Given the description of an element on the screen output the (x, y) to click on. 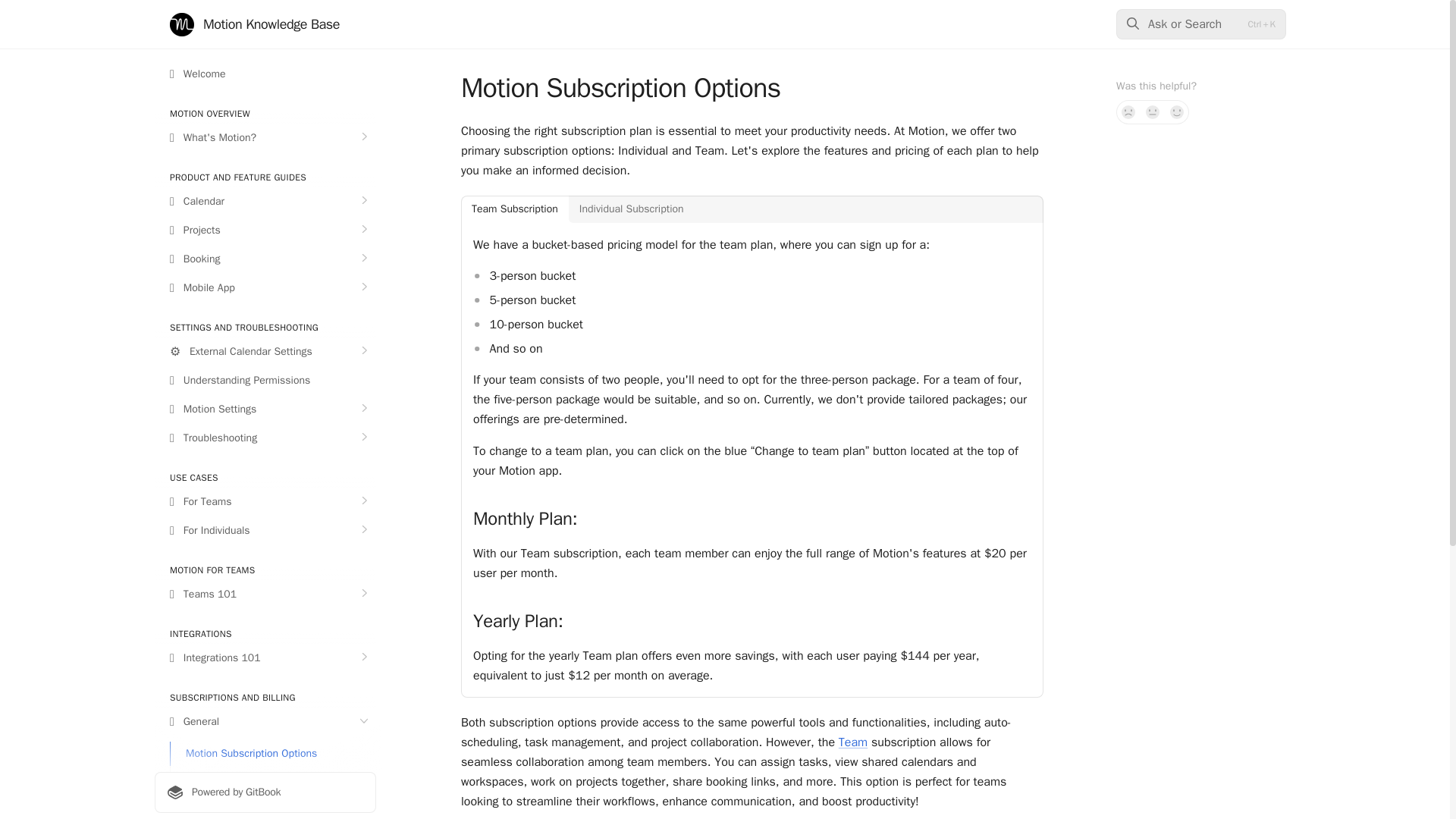
Motion Knowledge Base (254, 24)
Yes, it was! (1176, 111)
No (1128, 111)
Not sure (1152, 111)
